Given the description of an element on the screen output the (x, y) to click on. 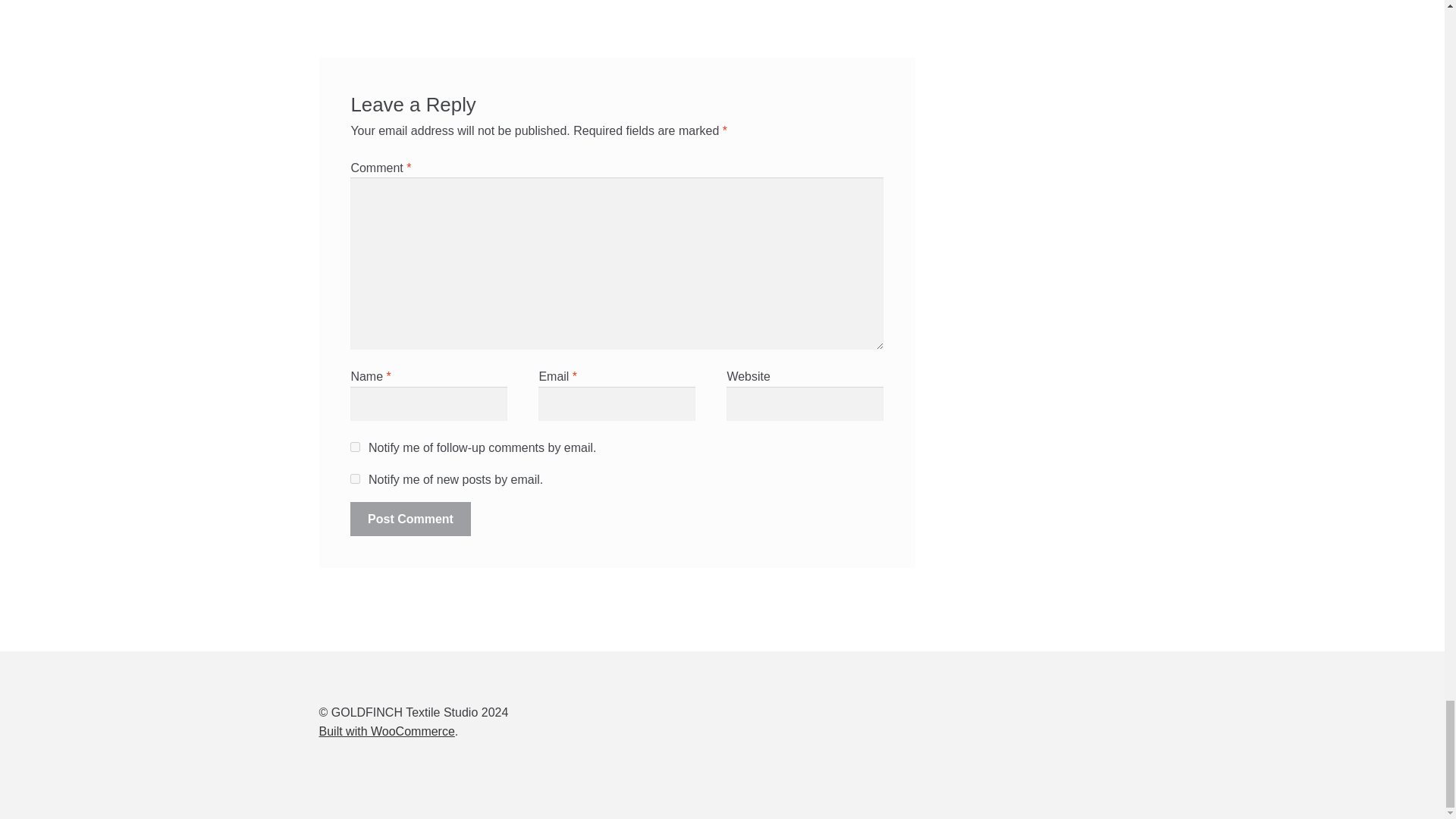
subscribe (354, 447)
Post Comment (410, 519)
subscribe (354, 479)
WooCommerce - The Best eCommerce Platform for WordPress (386, 730)
